Given the description of an element on the screen output the (x, y) to click on. 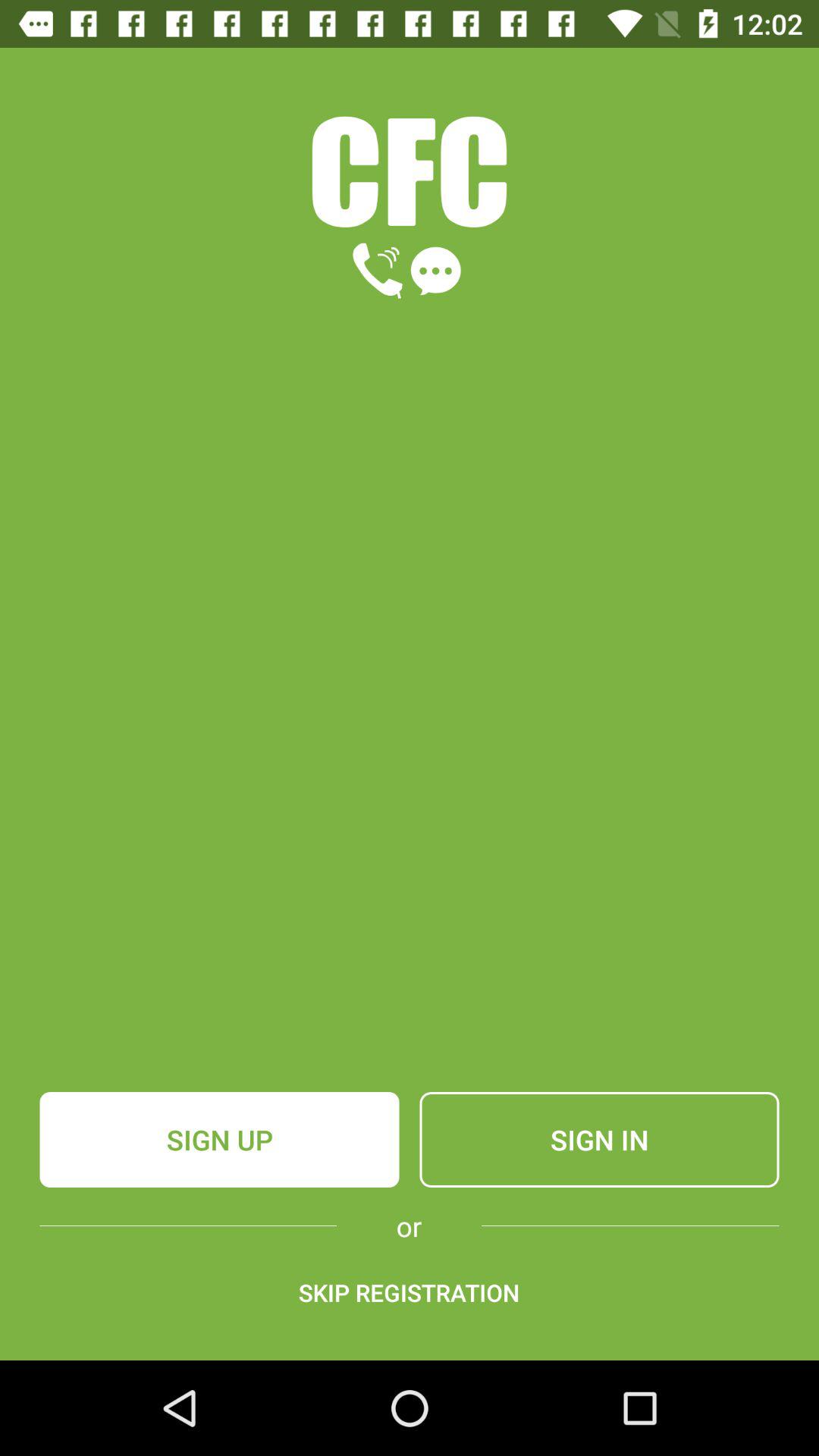
scroll until the sign in item (599, 1139)
